Given the description of an element on the screen output the (x, y) to click on. 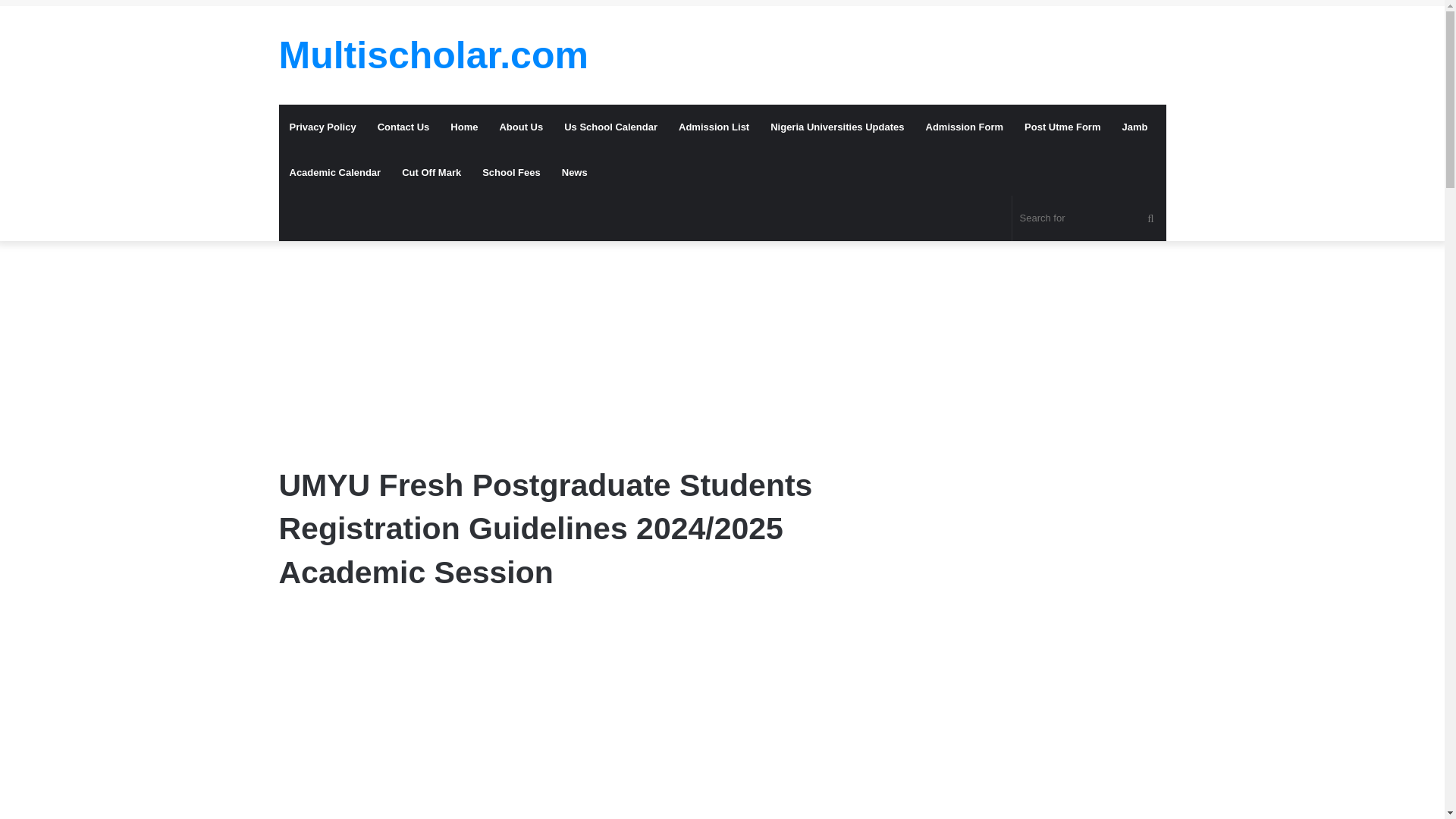
Multischolar.com (433, 55)
Multischolar.com (433, 55)
Us School Calendar (610, 126)
Home (463, 126)
Academic Calendar (335, 172)
News (574, 172)
About Us (520, 126)
Nigeria Universities Updates (837, 126)
Jamb (1133, 126)
Advertisement (721, 341)
Admission Form (963, 126)
Search for (1088, 217)
School Fees (511, 172)
Contact Us (403, 126)
Cut Off Mark (431, 172)
